Given the description of an element on the screen output the (x, y) to click on. 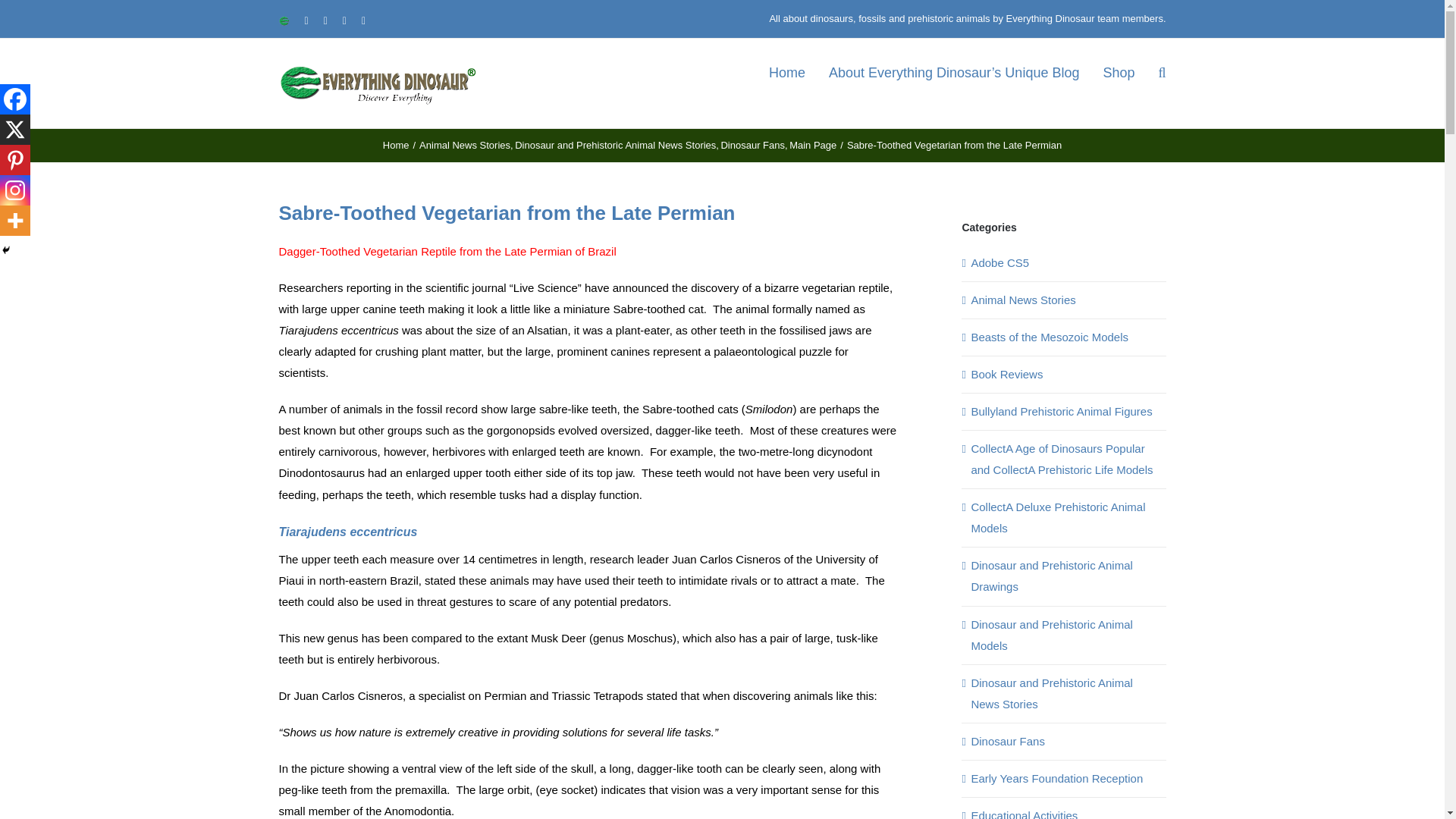
Hide (5, 250)
Facebook (15, 99)
X (15, 129)
Pinterest (15, 159)
Website (284, 20)
More (15, 220)
Dinosaur Fans (752, 144)
Animal News Stories (465, 144)
Dinosaur and Prehistoric Animal News Stories (615, 144)
Main Page (812, 144)
Instagram (15, 190)
Home (395, 144)
